Given the description of an element on the screen output the (x, y) to click on. 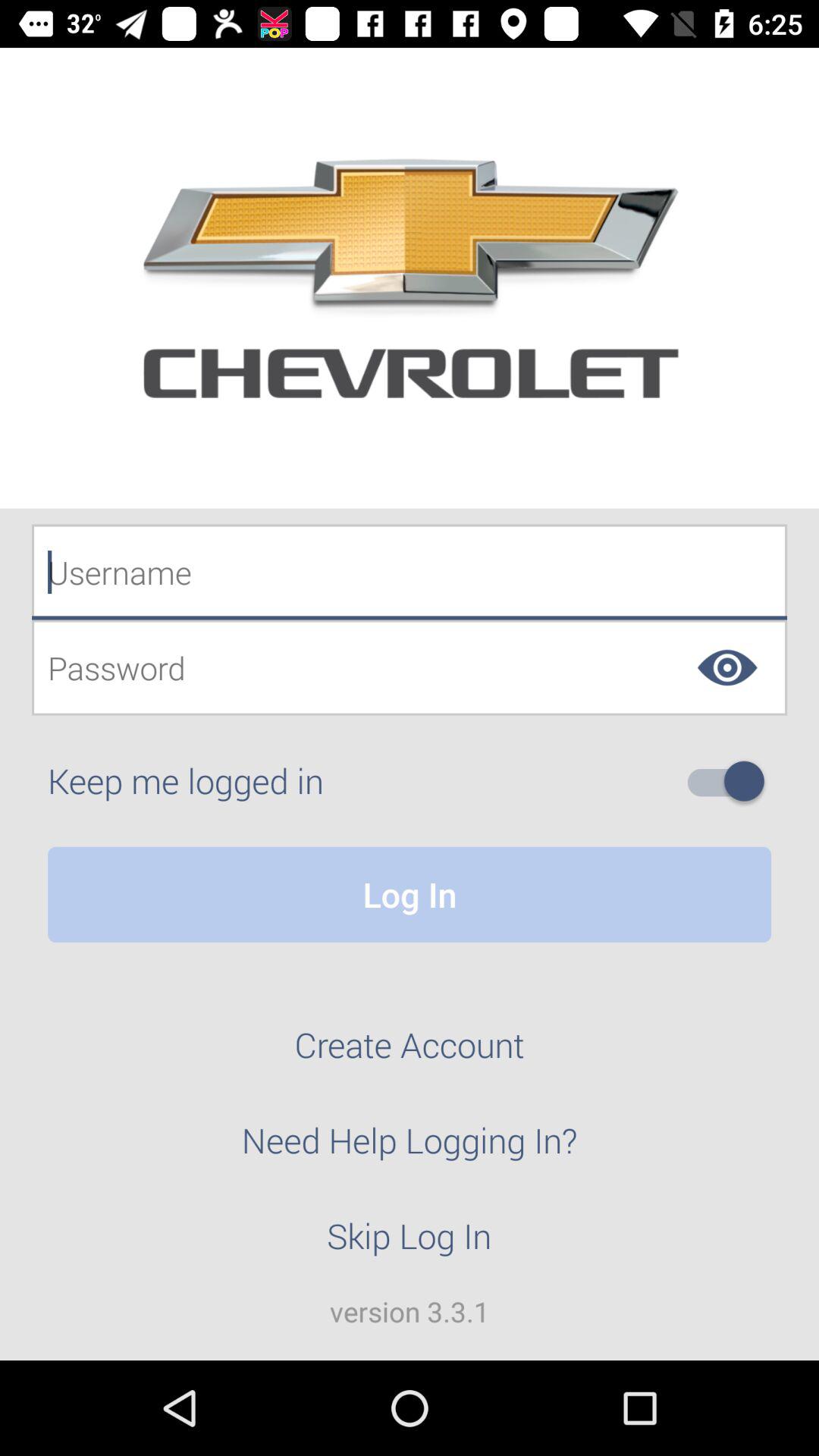
select the create account icon (409, 1053)
